Given the description of an element on the screen output the (x, y) to click on. 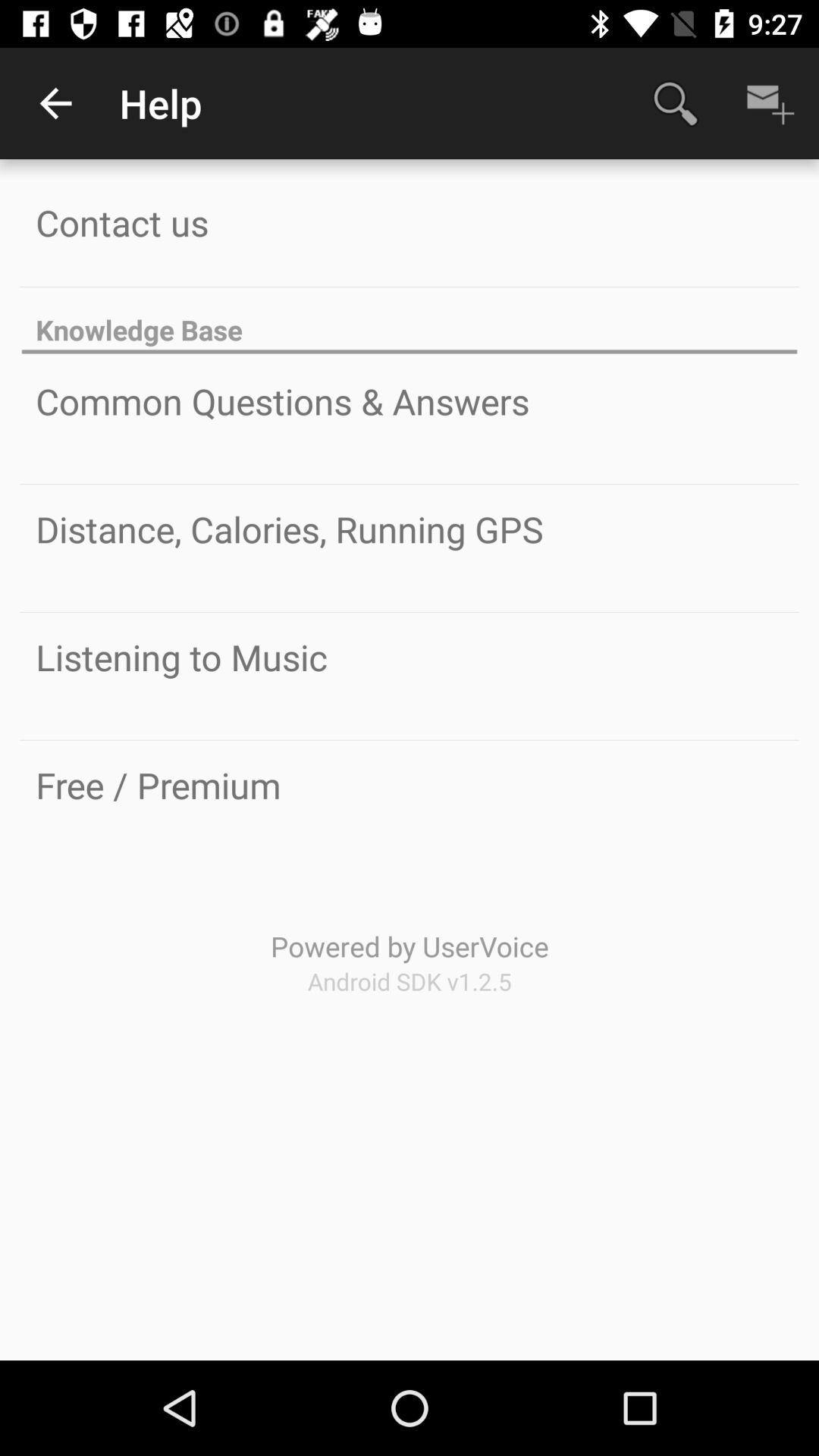
open the knowledge base (409, 321)
